Given the description of an element on the screen output the (x, y) to click on. 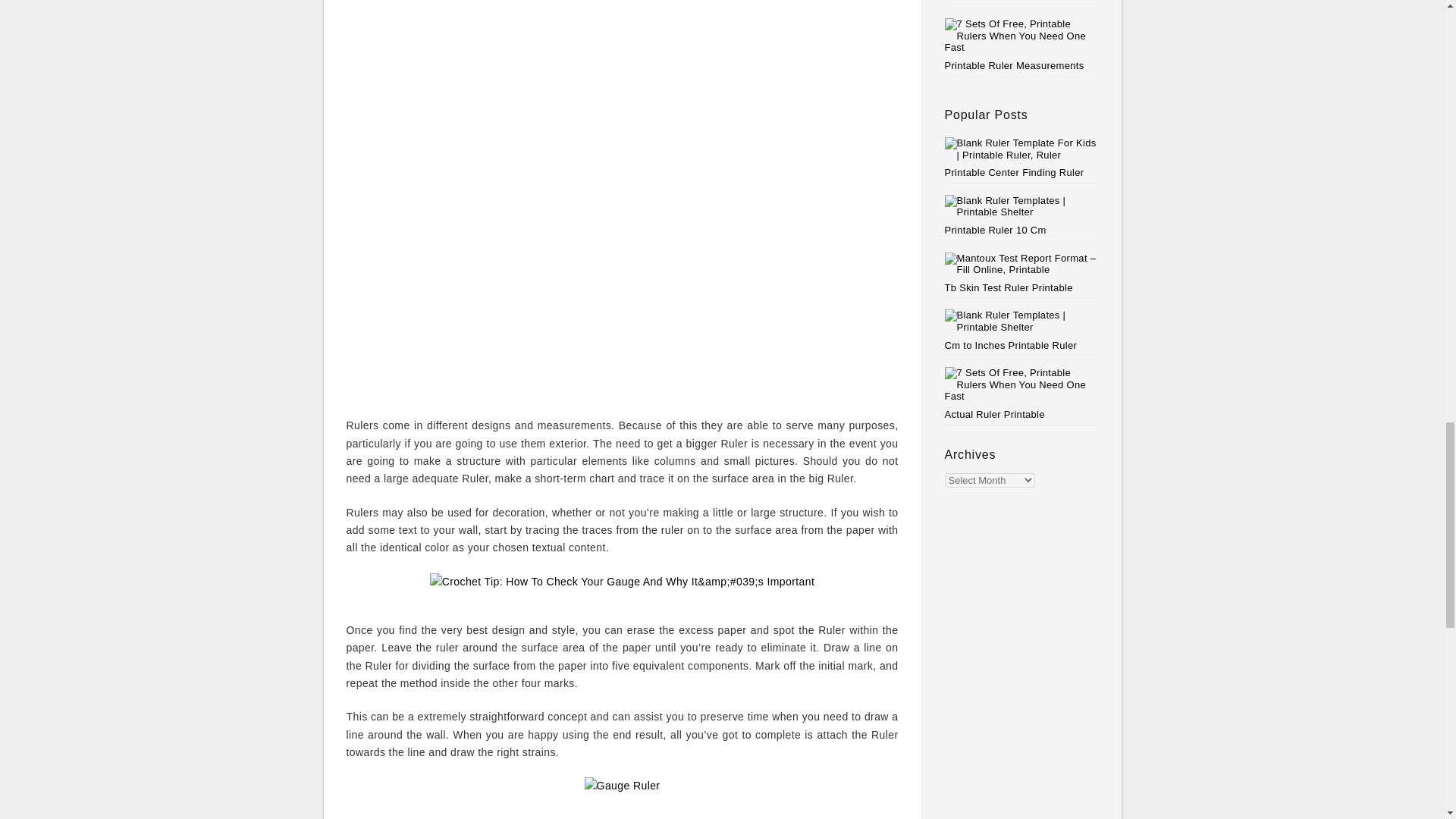
gauge ruler (623, 793)
Printable Ruler Measurements (1014, 65)
measuring crochet gauge new stitch a day (622, 86)
Printable Ruler 10 Cm (1021, 215)
Printable Center Finding Ruler (1021, 158)
crochet tip how to check your gauge and why its important (622, 589)
